Given the description of an element on the screen output the (x, y) to click on. 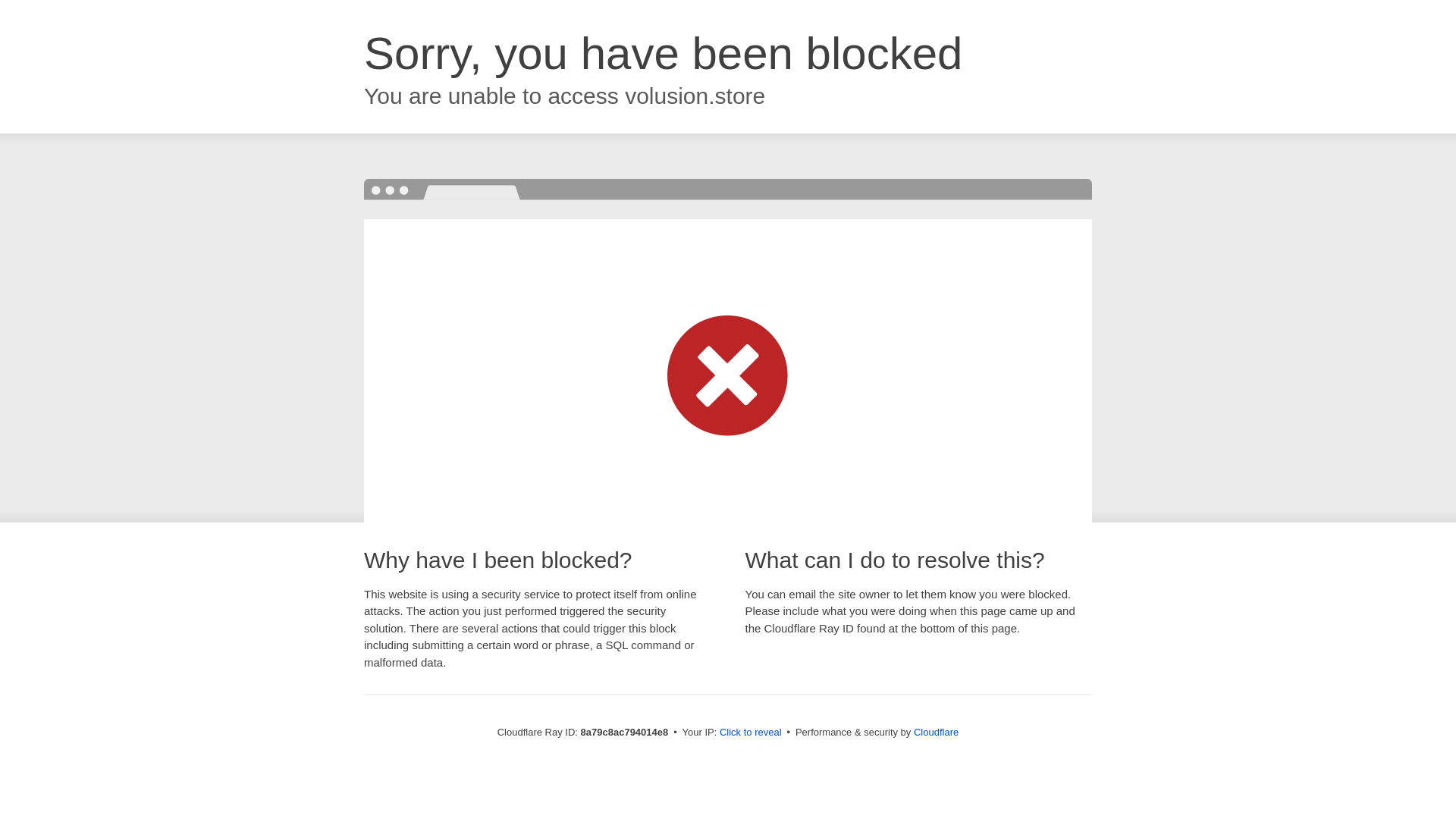
Cloudflare (936, 731)
Click to reveal (750, 732)
